Given the description of an element on the screen output the (x, y) to click on. 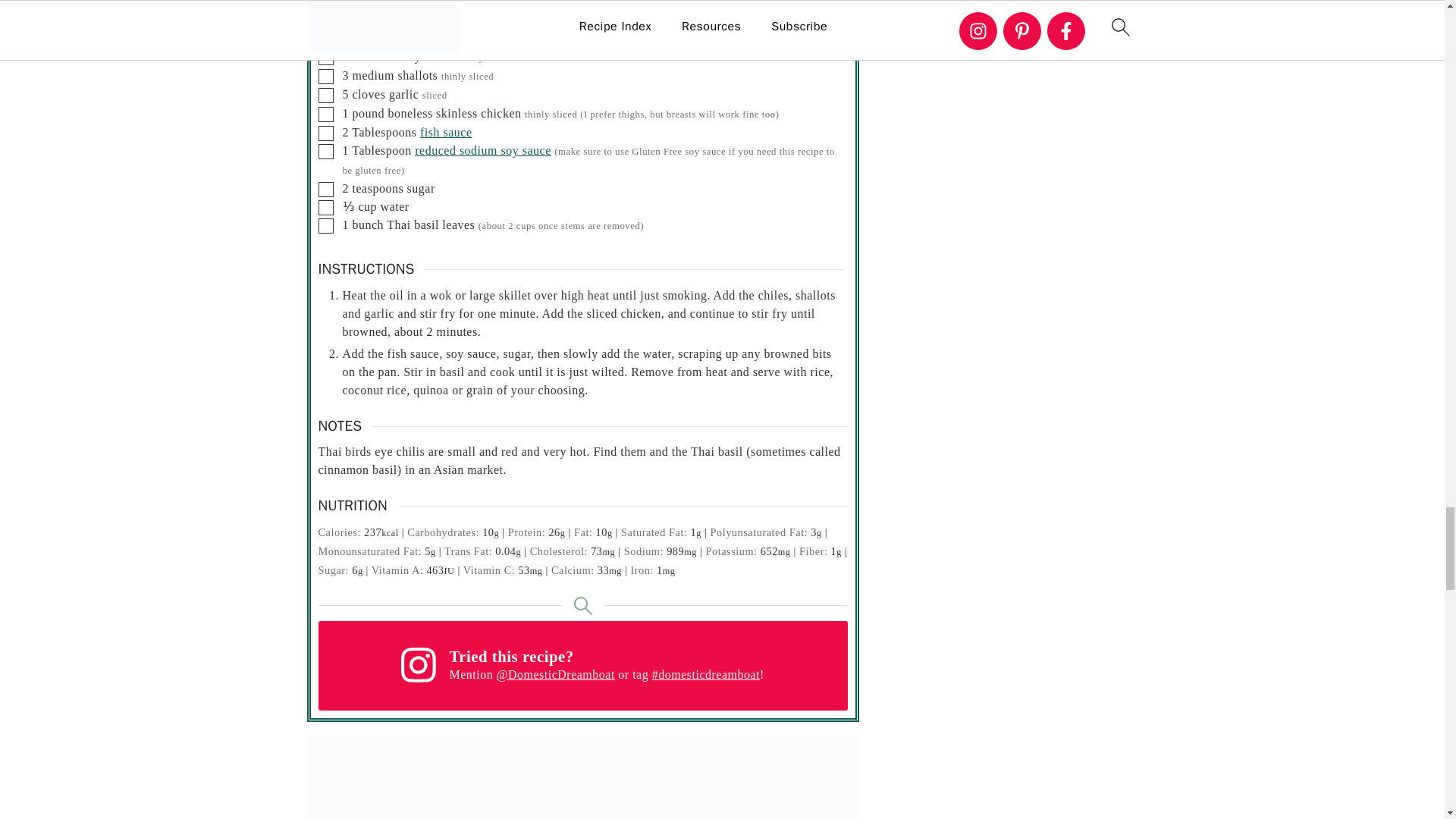
Spicy Thai Basil Chicken (582, 778)
